Given the description of an element on the screen output the (x, y) to click on. 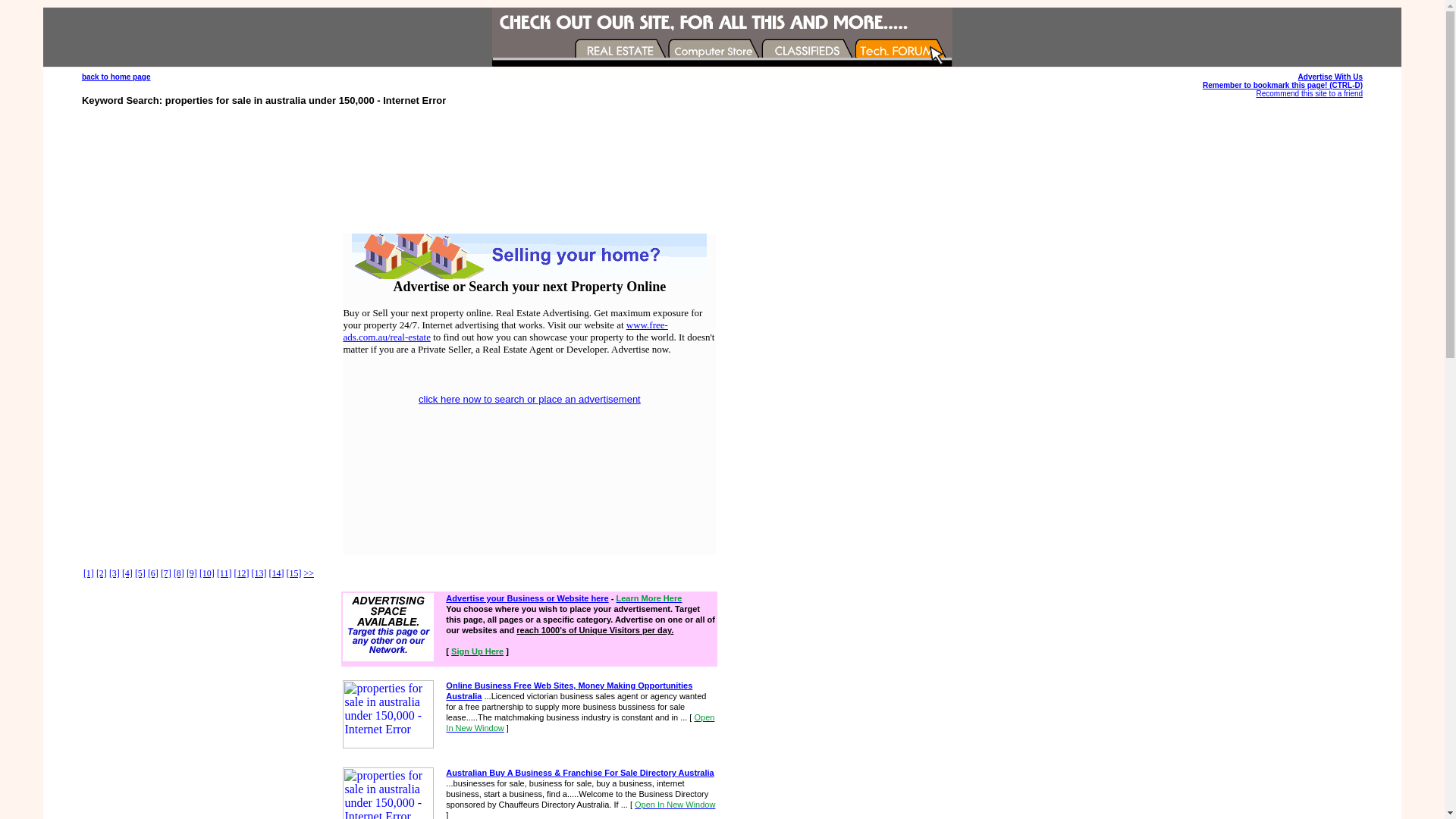
[13] Element type: text (258, 572)
Learn More Here Element type: text (649, 597)
[9] Element type: text (191, 572)
[14] Element type: text (275, 572)
[6] Element type: text (152, 572)
Advertisement Element type: hover (577, 491)
[8] Element type: text (178, 572)
[1] Element type: text (88, 572)
[4] Element type: text (127, 572)
[10] Element type: text (206, 572)
Sign Up Here Element type: text (477, 650)
Recommend this site to a friend Element type: text (1308, 93)
Open In New Window Element type: text (674, 804)
>> Element type: text (308, 572)
[3] Element type: text (114, 572)
[2] Element type: text (101, 572)
www.free-ads.com.au/real-estate Element type: text (505, 330)
back to home page Element type: text (115, 76)
[12] Element type: text (240, 572)
Advertise With Us
Remember to bookmark this page! (CTRL-D) Element type: text (1282, 80)
click here now to search or place an advertisement Element type: text (529, 398)
[5] Element type: text (139, 572)
[7] Element type: text (165, 572)
Advertisement Element type: hover (721, 168)
Open In New Window Element type: text (579, 722)
[11] Element type: text (224, 572)
[15] Element type: text (293, 572)
Advertise your Business or Website here Element type: text (526, 597)
Advertisement Element type: hover (480, 491)
Advertisement Element type: hover (1170, 459)
